Given the description of an element on the screen output the (x, y) to click on. 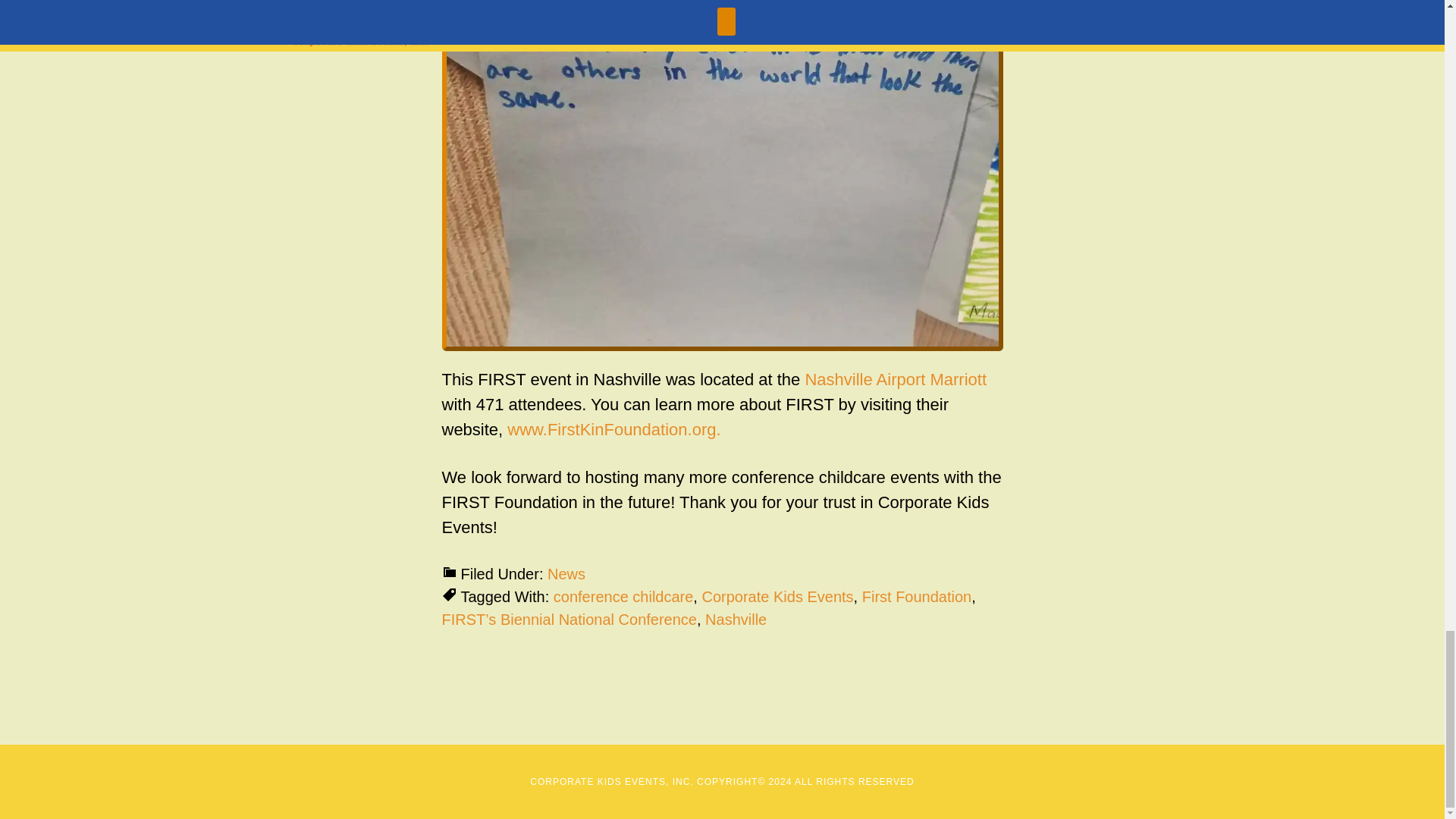
Nashville Airport Marriott (896, 379)
News (566, 573)
conference childcare (623, 596)
Corporate Kids Events (777, 596)
www.FirstKinFoundation.org. (613, 429)
First Foundation (916, 596)
